Given the description of an element on the screen output the (x, y) to click on. 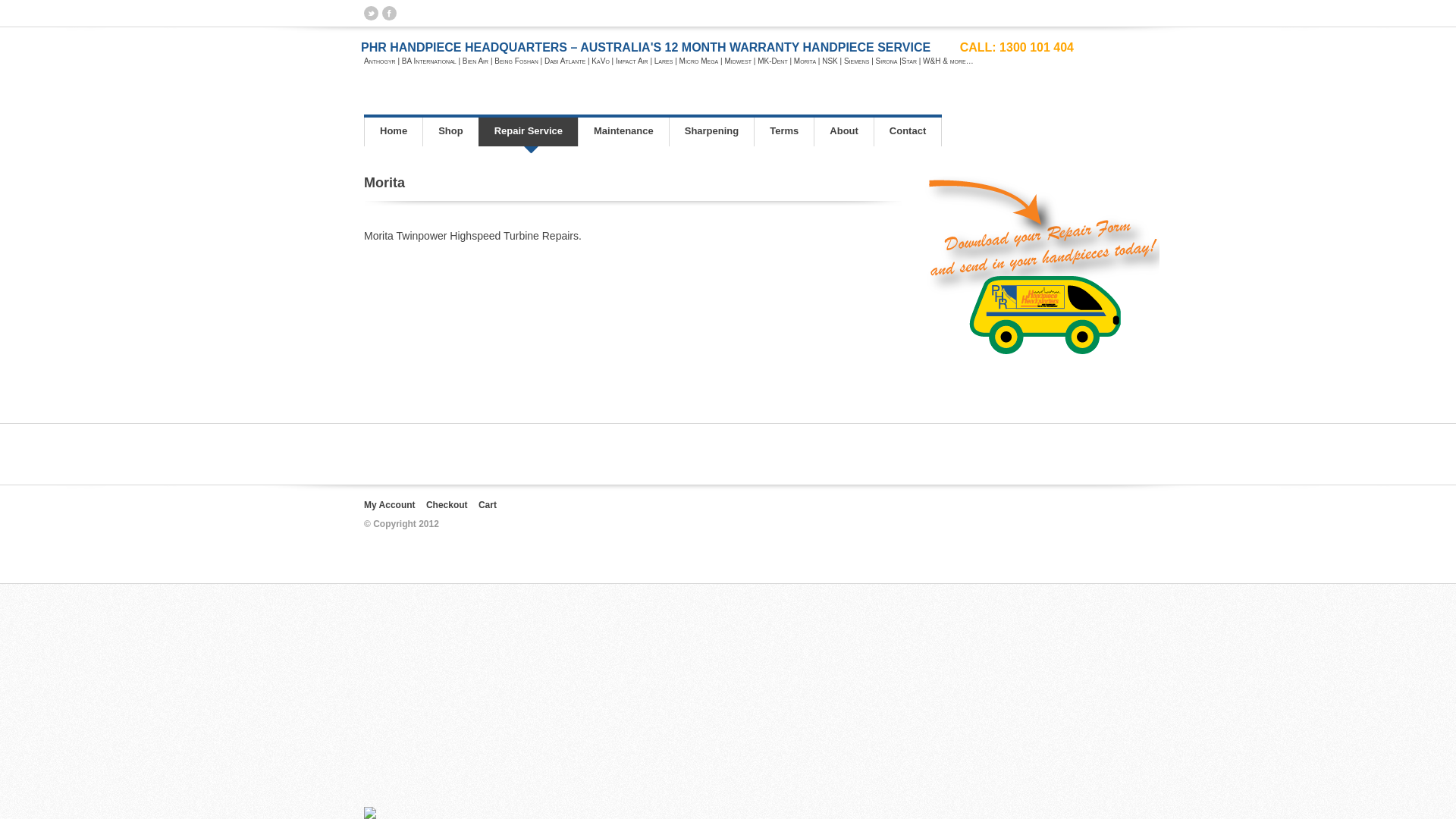
Home Element type: text (393, 131)
Checkout Element type: text (446, 504)
Terms Element type: text (783, 131)
Maintenance Element type: text (622, 131)
Sharpening Element type: text (711, 131)
Contact Element type: text (907, 131)
About Element type: text (843, 131)
My Account Element type: text (389, 504)
Repair Service Element type: text (527, 131)
Cart Element type: text (487, 504)
Shop Element type: text (450, 131)
